Given the description of an element on the screen output the (x, y) to click on. 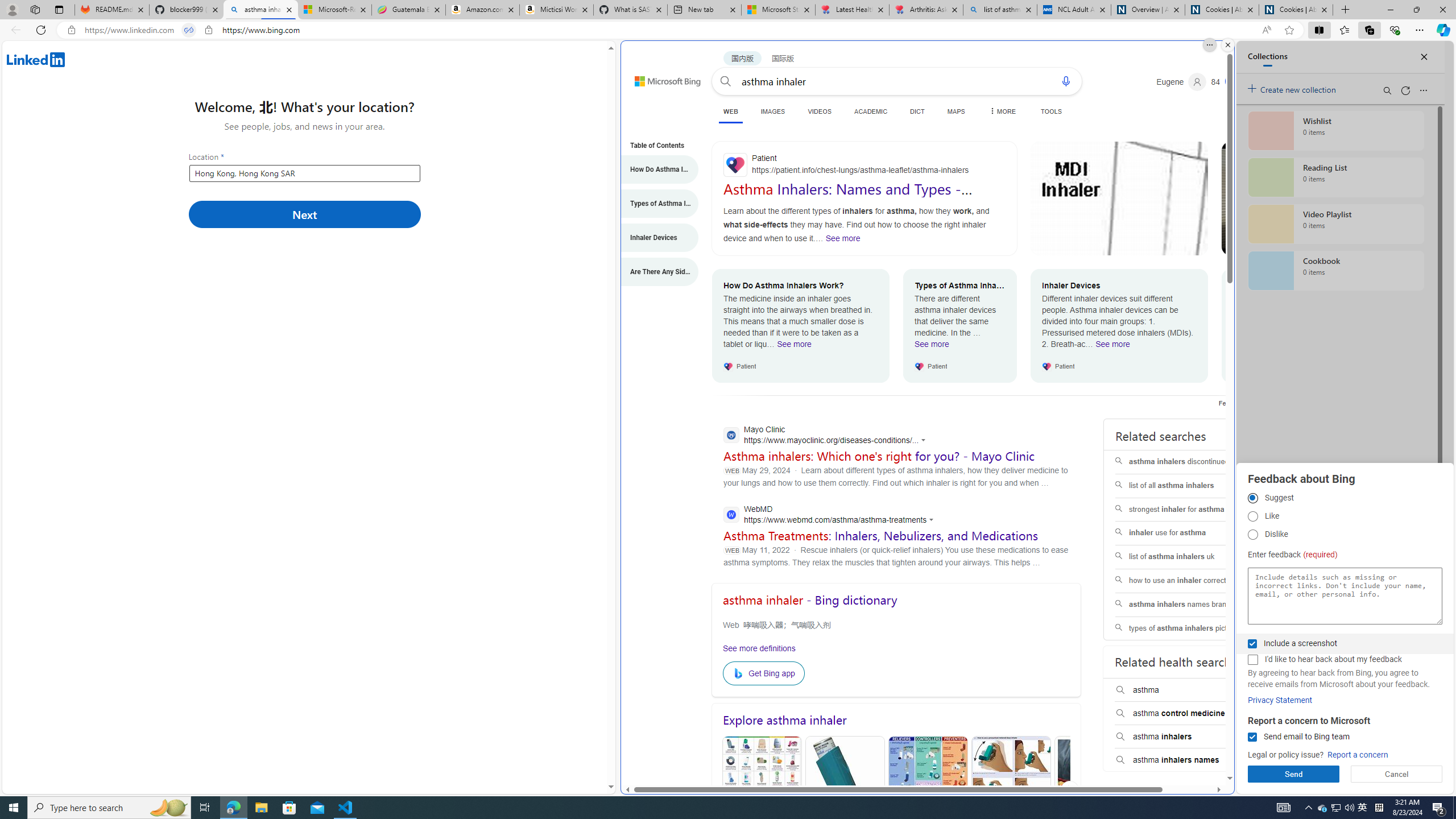
Suggest (1252, 498)
DICT (916, 111)
types of asthma inhalers pictures (1187, 628)
strongest inhaler for asthma (1187, 509)
types of asthma inhalers pictures (1187, 628)
asthma inhaler - Search (260, 9)
Click to scroll right (1069, 789)
Explore asthma inhaler (896, 719)
list of asthma inhalers uk - Search (1000, 9)
